Given the description of an element on the screen output the (x, y) to click on. 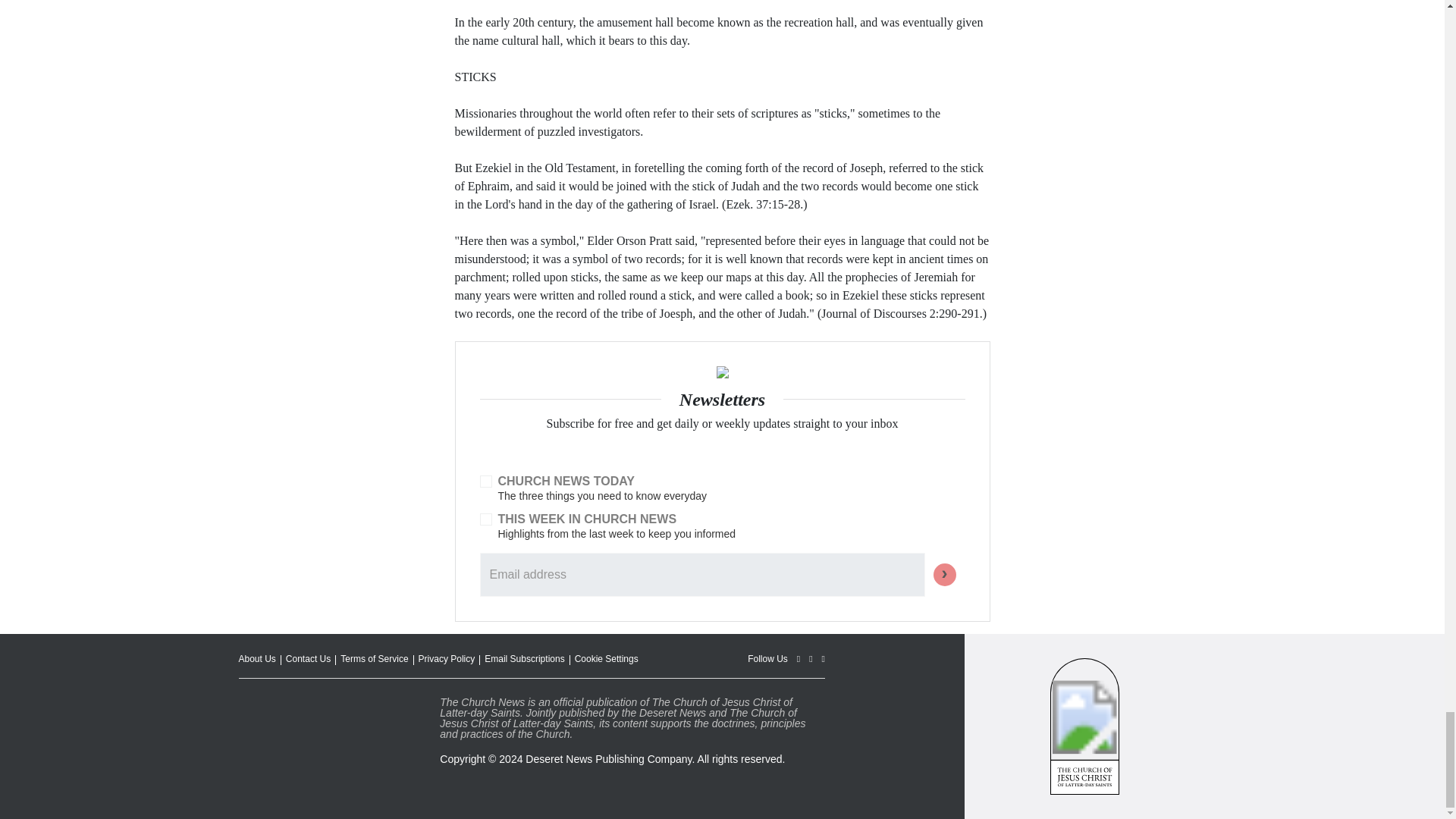
About Us (256, 658)
This Week in Church News (485, 519)
Terms of Service (373, 658)
Cookie Settings (607, 658)
Email Subscriptions (524, 658)
Contact Us (307, 658)
Privacy Policy (447, 658)
Church News Today (485, 481)
